Given the description of an element on the screen output the (x, y) to click on. 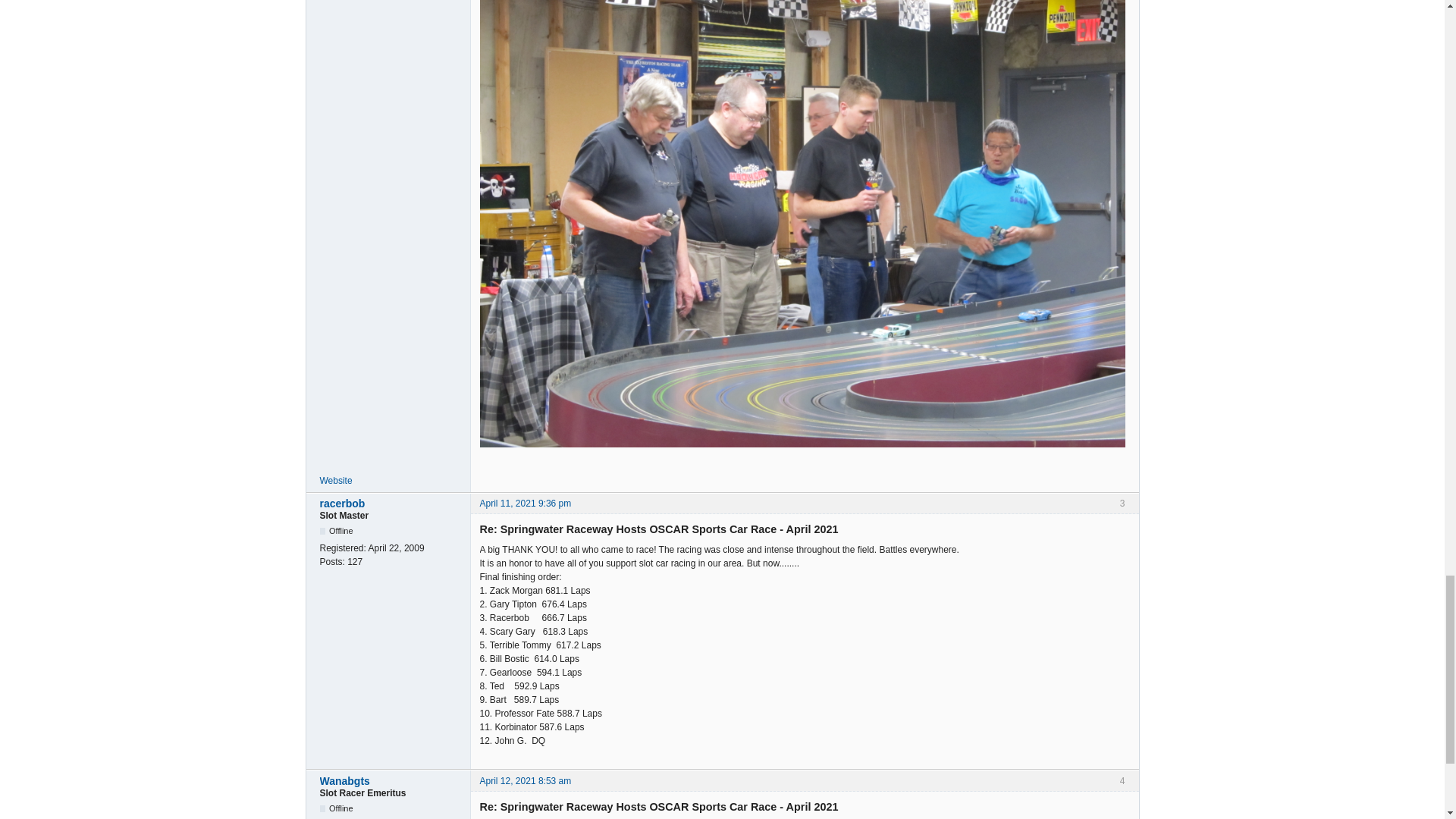
Website (336, 480)
April 11, 2021 9:36 pm (524, 502)
Wanabgts (390, 780)
Go to racerbob's profile (390, 503)
April 12, 2021 8:53 am (524, 780)
racerbob (390, 503)
Permanent link to this post (524, 780)
Permanent link to this post (524, 502)
Go to Wanabgts's profile (390, 780)
